Given the description of an element on the screen output the (x, y) to click on. 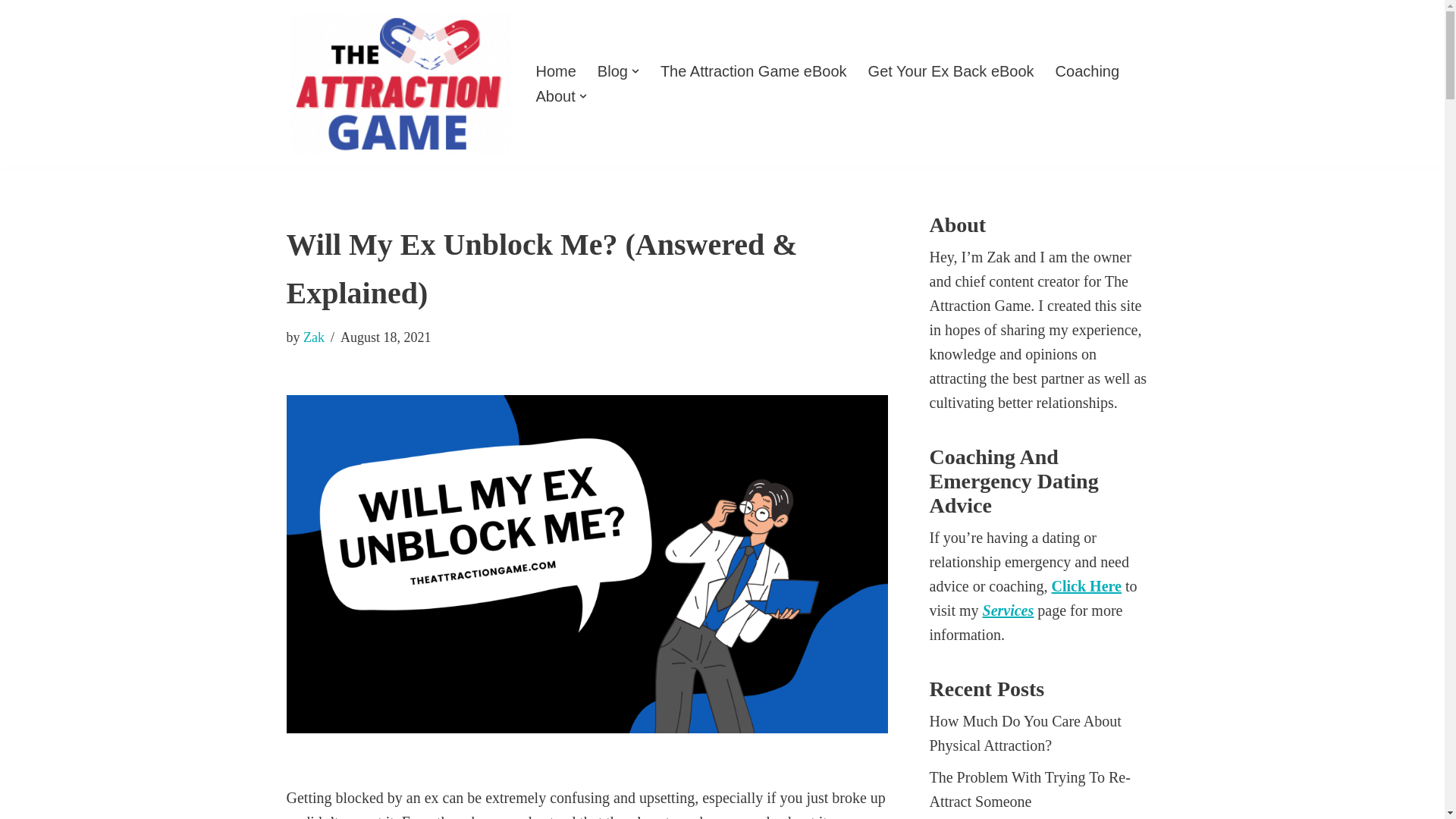
Get Your Ex Back eBook (950, 70)
Skip to content (11, 31)
Coaching (1087, 70)
Home (555, 70)
The Attraction Game eBook (754, 70)
Zak (313, 337)
Blog (611, 70)
About (555, 95)
Posts by Zak (313, 337)
